Given the description of an element on the screen output the (x, y) to click on. 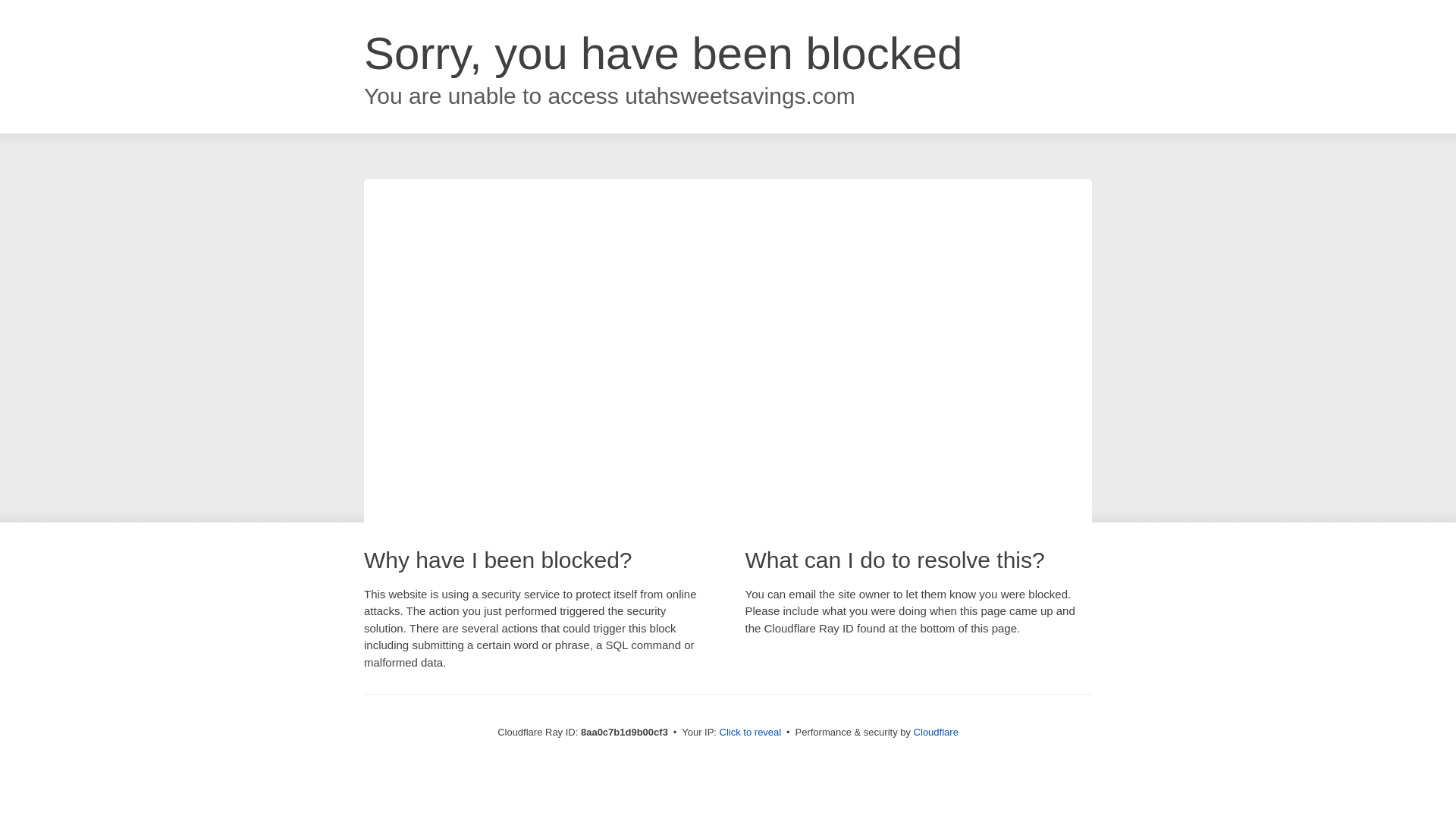
Click to reveal (750, 732)
Cloudflare (936, 731)
